Given the description of an element on the screen output the (x, y) to click on. 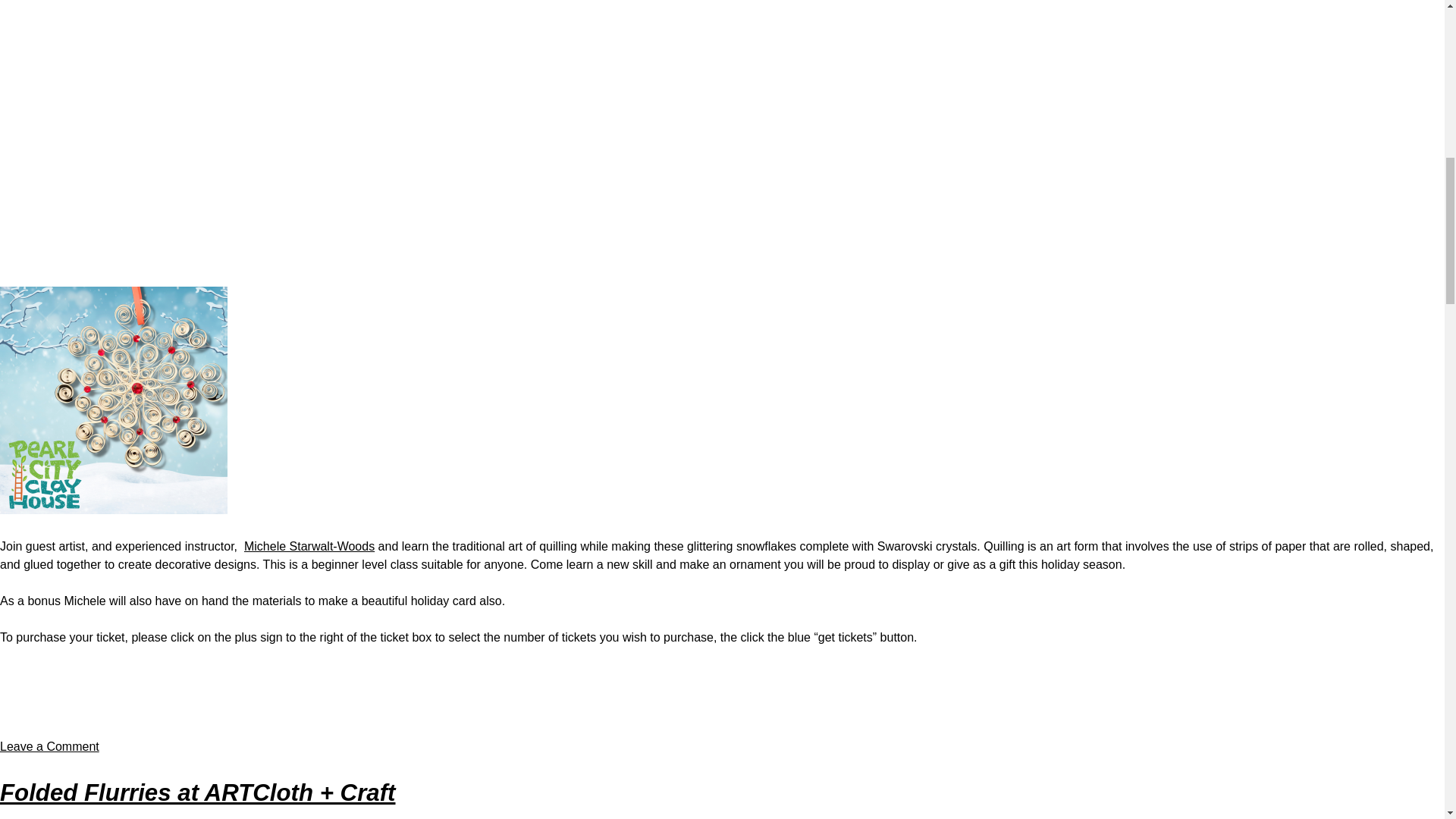
Michele Starwalt-Woods (49, 746)
